Given the description of an element on the screen output the (x, y) to click on. 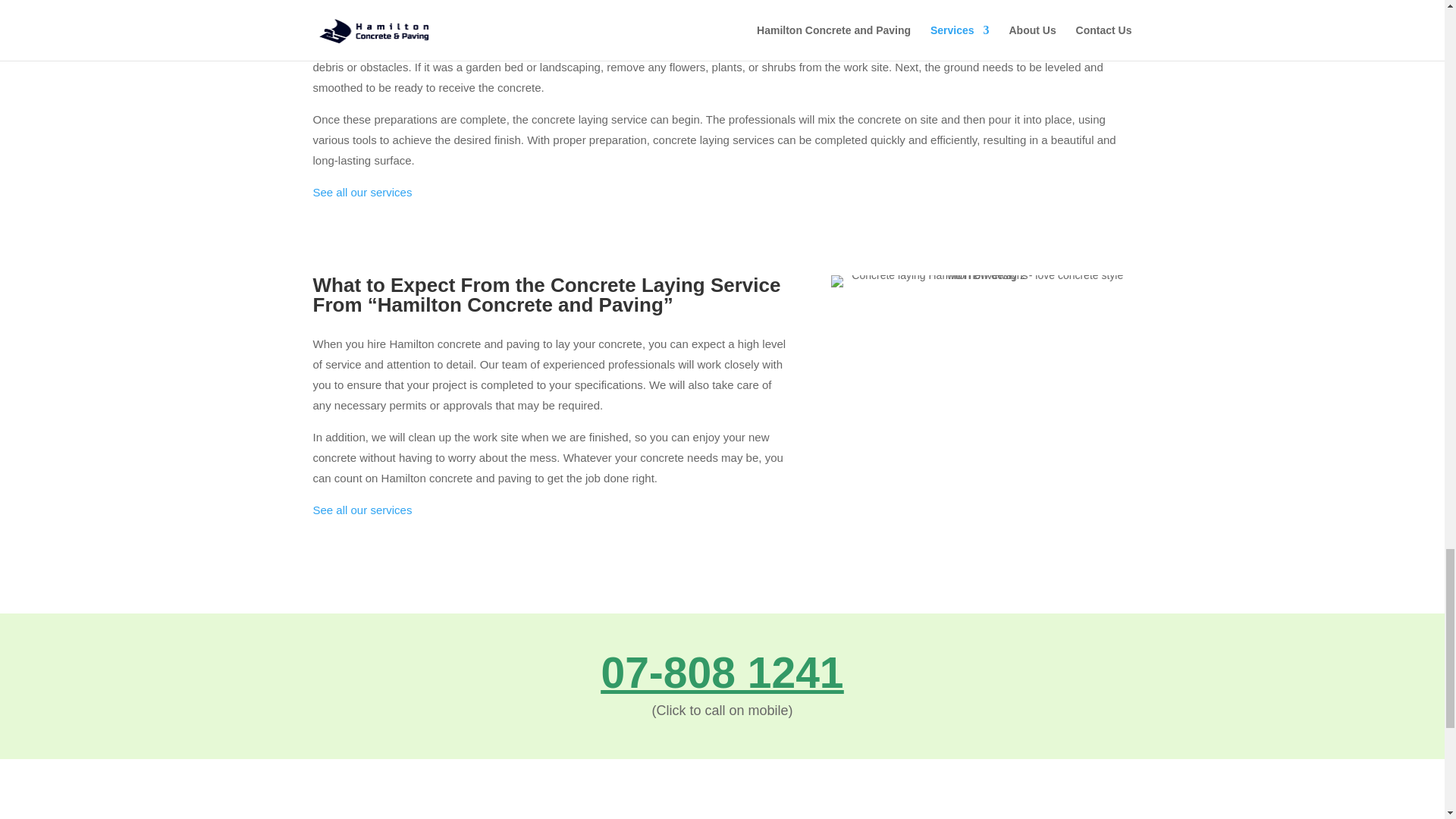
07-808 1241 (721, 672)
See all our services (362, 509)
amazing-concrete (981, 281)
See all our services (362, 192)
